Given the description of an element on the screen output the (x, y) to click on. 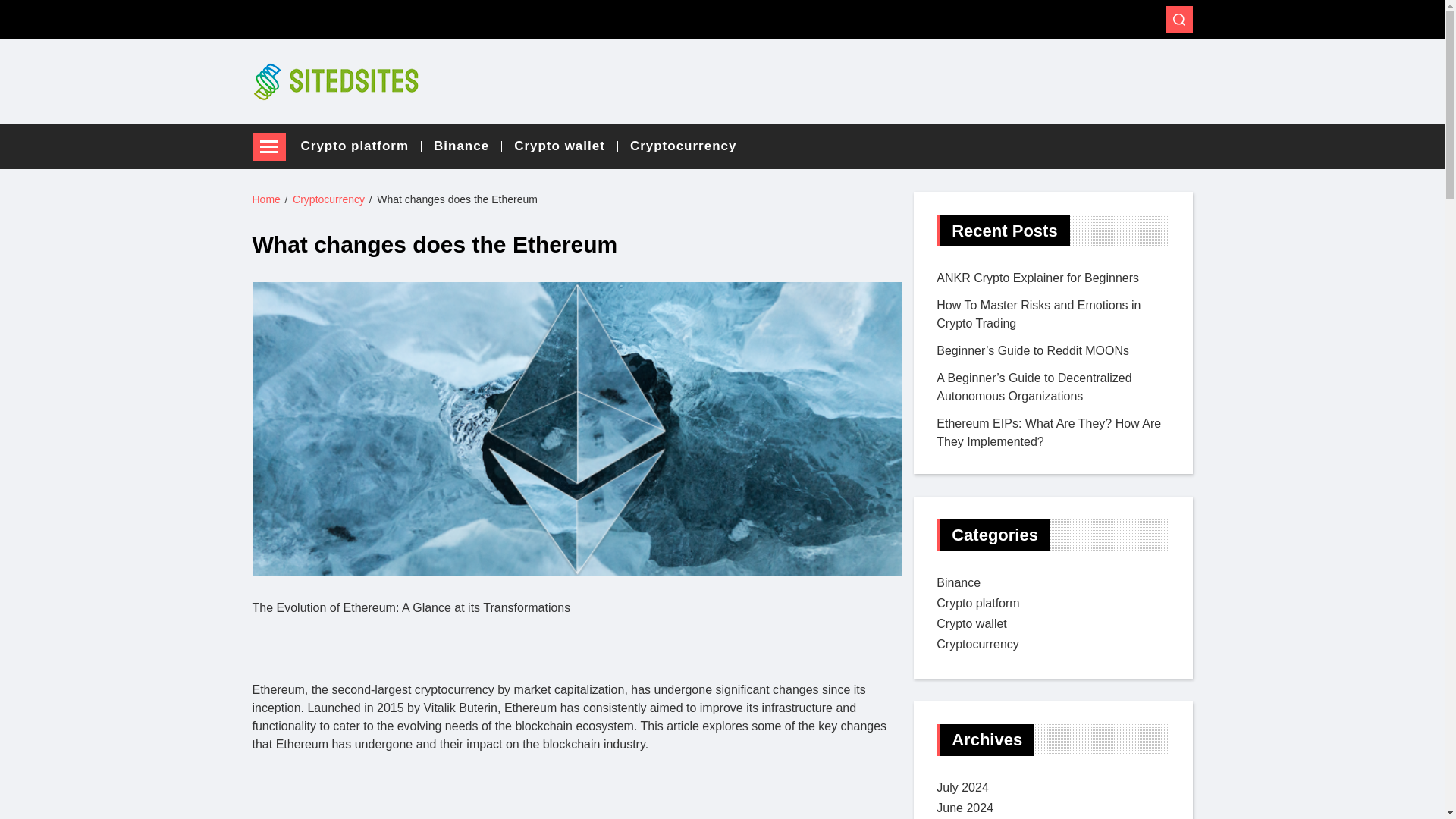
Cryptocurrency (683, 145)
How To Master Risks and Emotions in Crypto Trading (1038, 314)
Ethereum EIPs: What Are They? How Are They Implemented? (1048, 431)
ANKR Crypto Explainer for Beginners (1037, 277)
Home (265, 199)
Crypto platform (360, 145)
Crypto wallet (565, 145)
Binance (957, 582)
sitedsites (293, 117)
Cryptocurrency (328, 199)
Binance (467, 145)
